Given the description of an element on the screen output the (x, y) to click on. 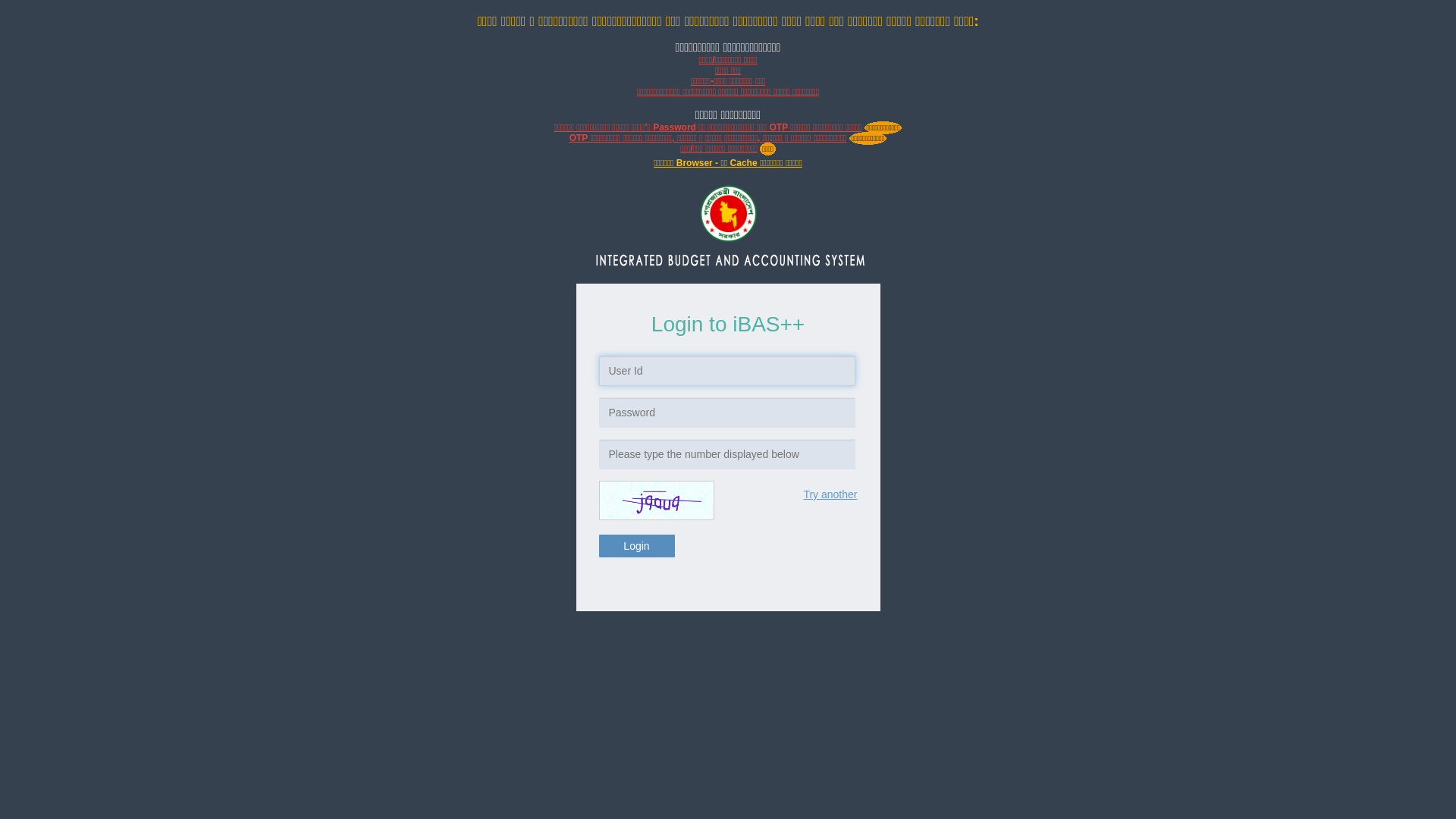
Try another Element type: text (829, 494)
Login Element type: text (636, 545)
